Given the description of an element on the screen output the (x, y) to click on. 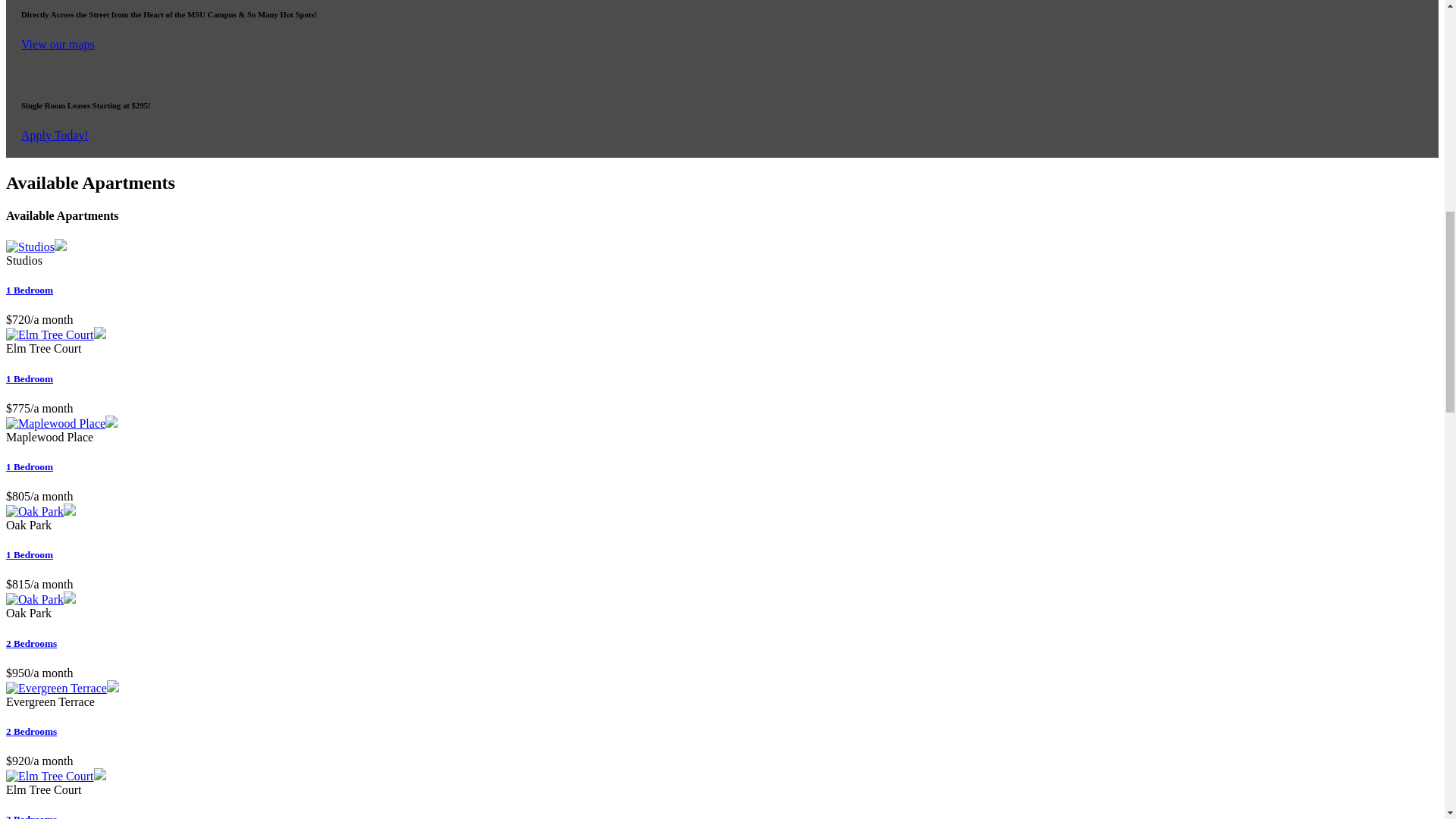
2 Bedrooms (30, 643)
1 Bedroom (28, 289)
1 Bedroom (28, 554)
View our maps (57, 43)
1 Bedroom (28, 378)
1 Bedroom (28, 466)
2 Bedrooms (30, 731)
Apply Today! (54, 134)
